Given the description of an element on the screen output the (x, y) to click on. 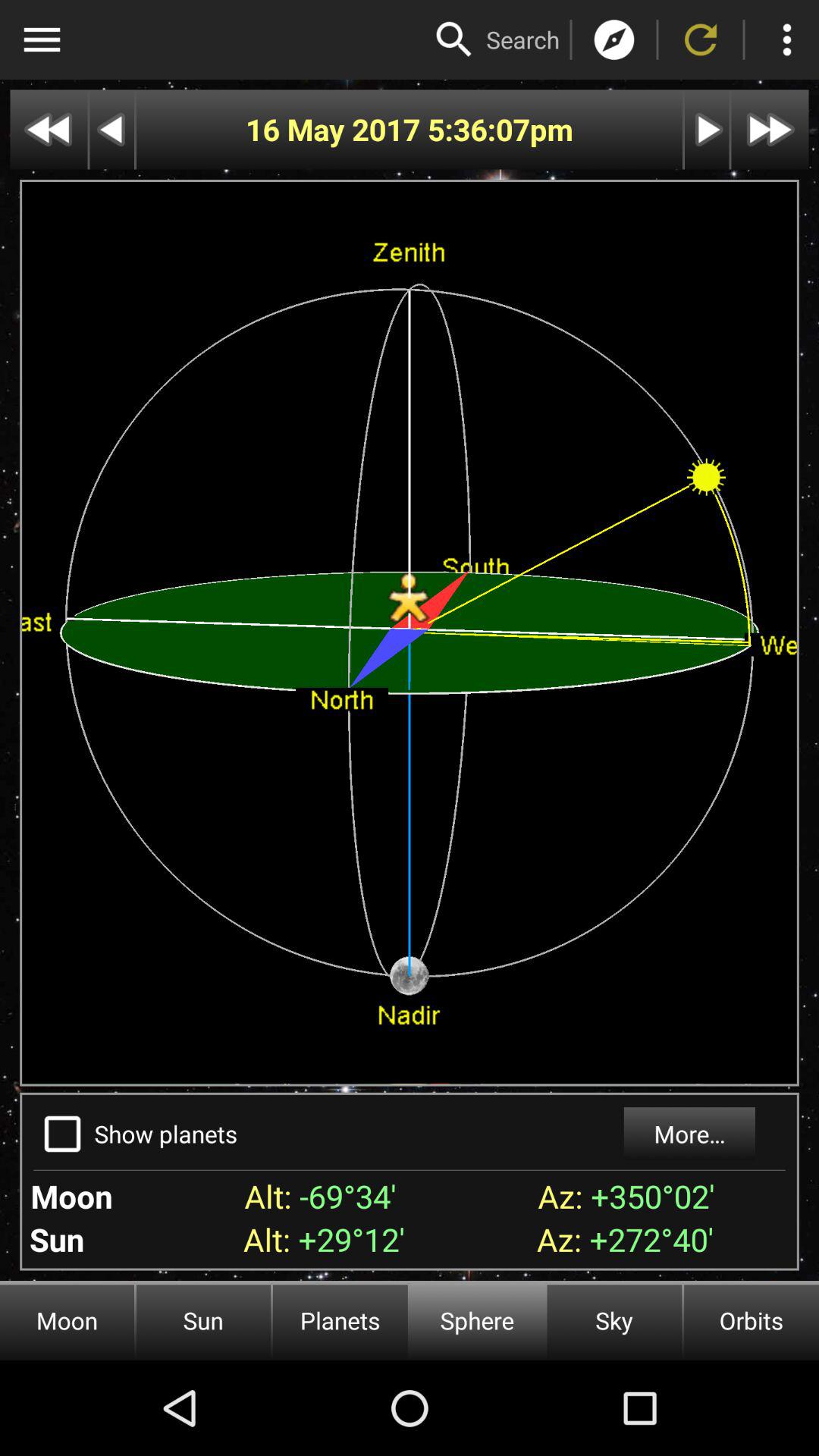
toggle fast forward (769, 129)
